Given the description of an element on the screen output the (x, y) to click on. 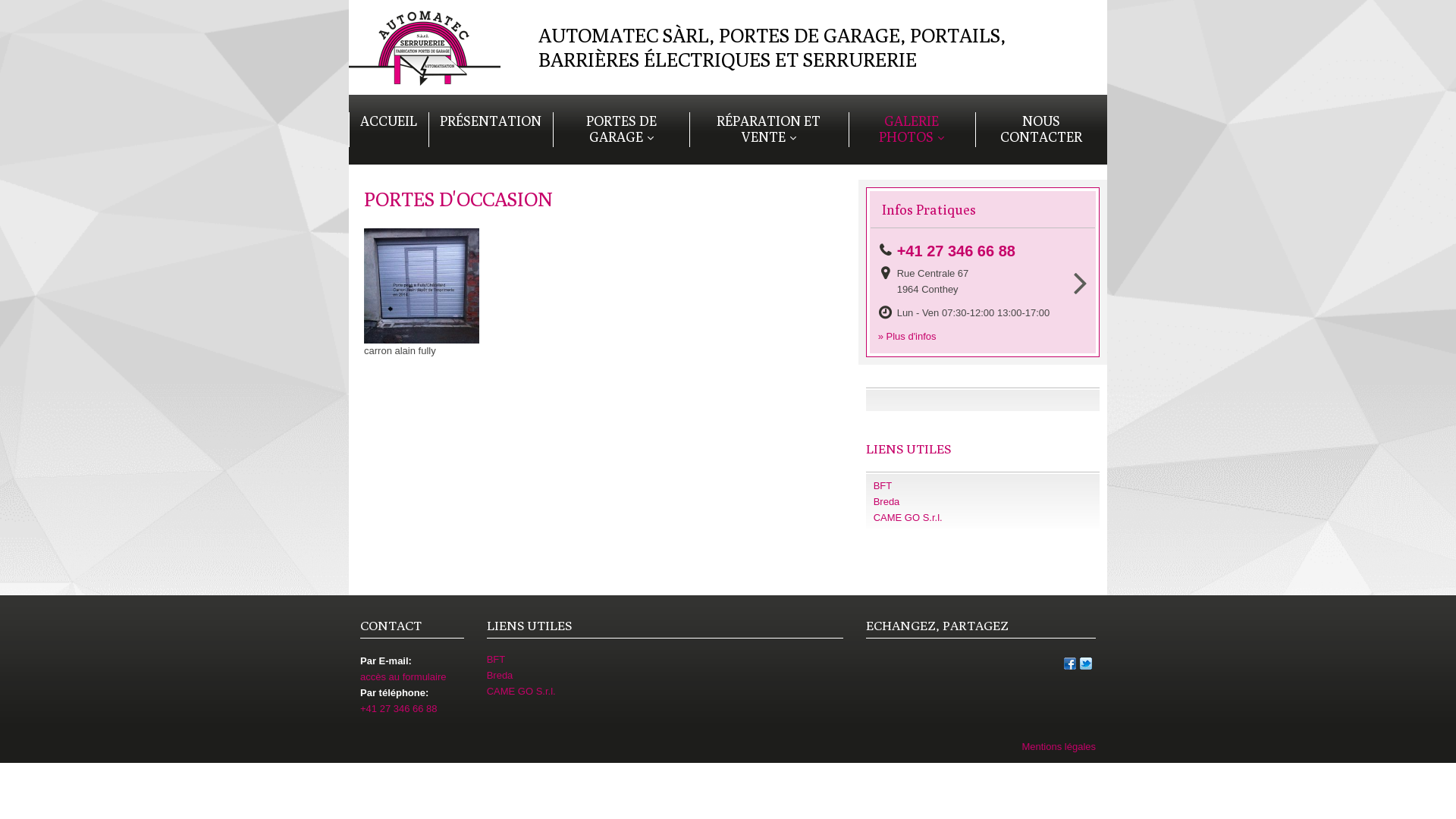
Breda Element type: text (664, 675)
CAME GO S.r.l. Element type: text (982, 517)
+41 27 346 66 88 Element type: text (398, 708)
+41 27 346 66 88 Element type: text (960, 251)
BFT Element type: text (982, 486)
PORTES DE GARAGE Element type: text (620, 129)
CAME GO S.r.l. Element type: text (664, 691)
Breda Element type: text (982, 501)
carron alain fully Element type: text (421, 293)
BFT Element type: text (664, 659)
ACCUEIL Element type: text (388, 121)
NOUS CONTACTER Element type: text (1041, 129)
GALERIE PHOTOS Element type: text (911, 129)
